Given the description of an element on the screen output the (x, y) to click on. 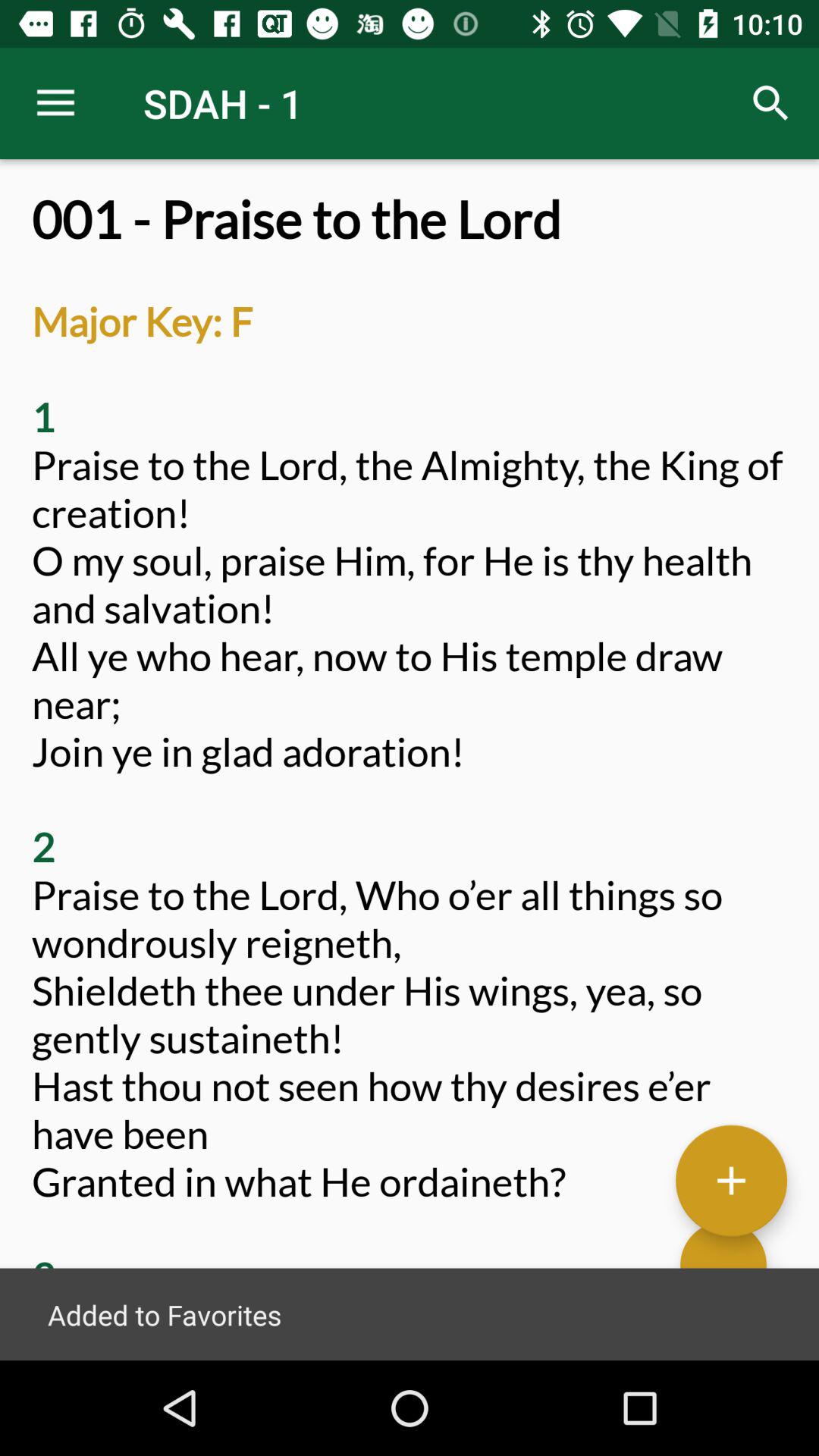
choose the icon to the left of sdah - 1 item (55, 103)
